Given the description of an element on the screen output the (x, y) to click on. 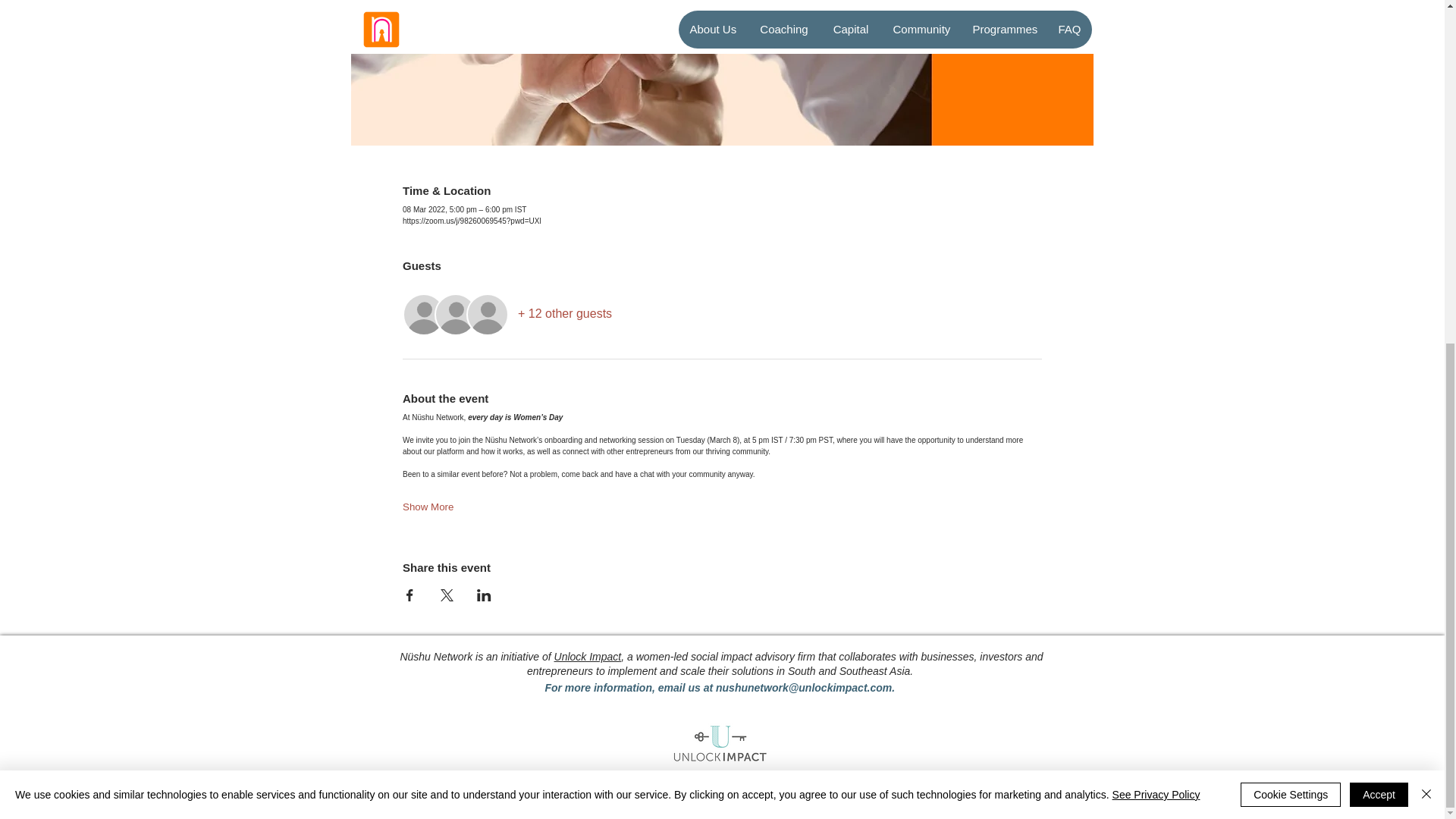
Unlock Impact (587, 656)
See Privacy Policy (1155, 209)
Show More (427, 506)
Accept (1378, 209)
Cookie Settings (1290, 209)
